Given the description of an element on the screen output the (x, y) to click on. 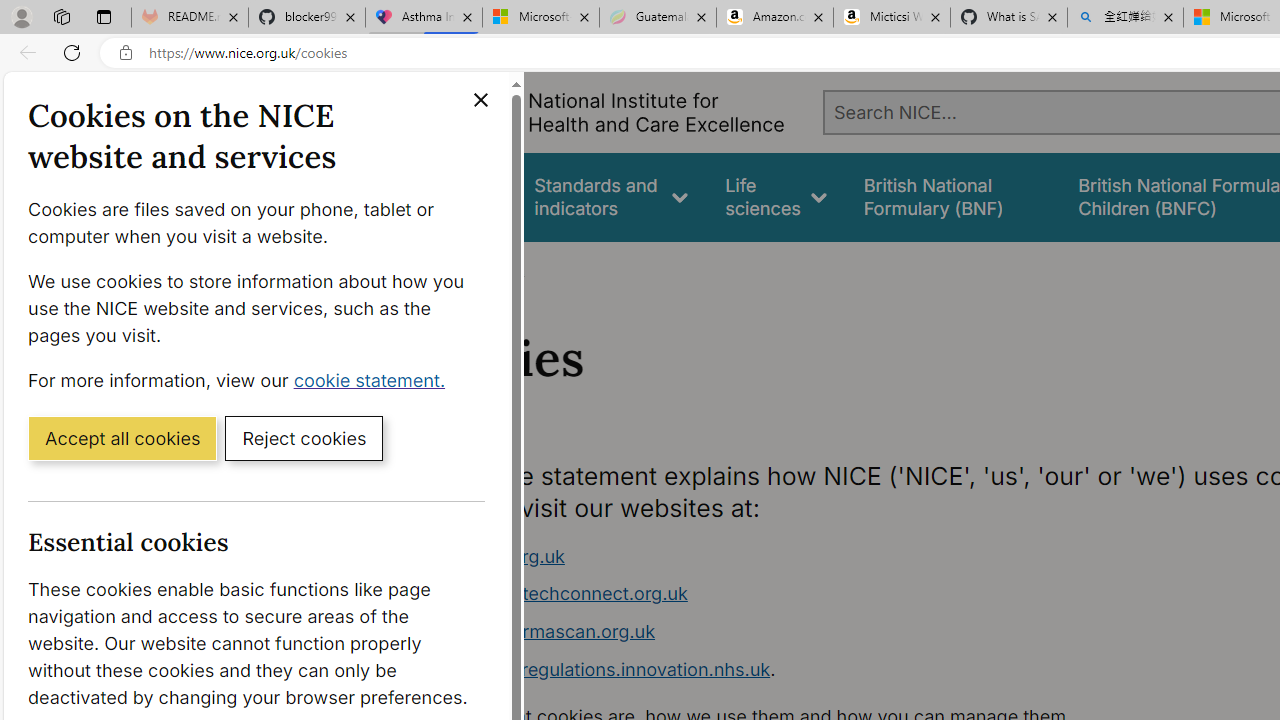
cookie statement. (Opens in a new window) (373, 379)
Life sciences (776, 196)
www.digitalregulations.innovation.nhs.uk (595, 668)
www.ukpharmascan.org.uk (796, 632)
About (498, 268)
false (952, 196)
www.digitalregulations.innovation.nhs.uk. (796, 669)
www.nice.org.uk (492, 556)
www.healthtechconnect.org.uk (796, 594)
www.healthtechconnect.org.uk (554, 593)
Accept all cookies (122, 437)
